Given the description of an element on the screen output the (x, y) to click on. 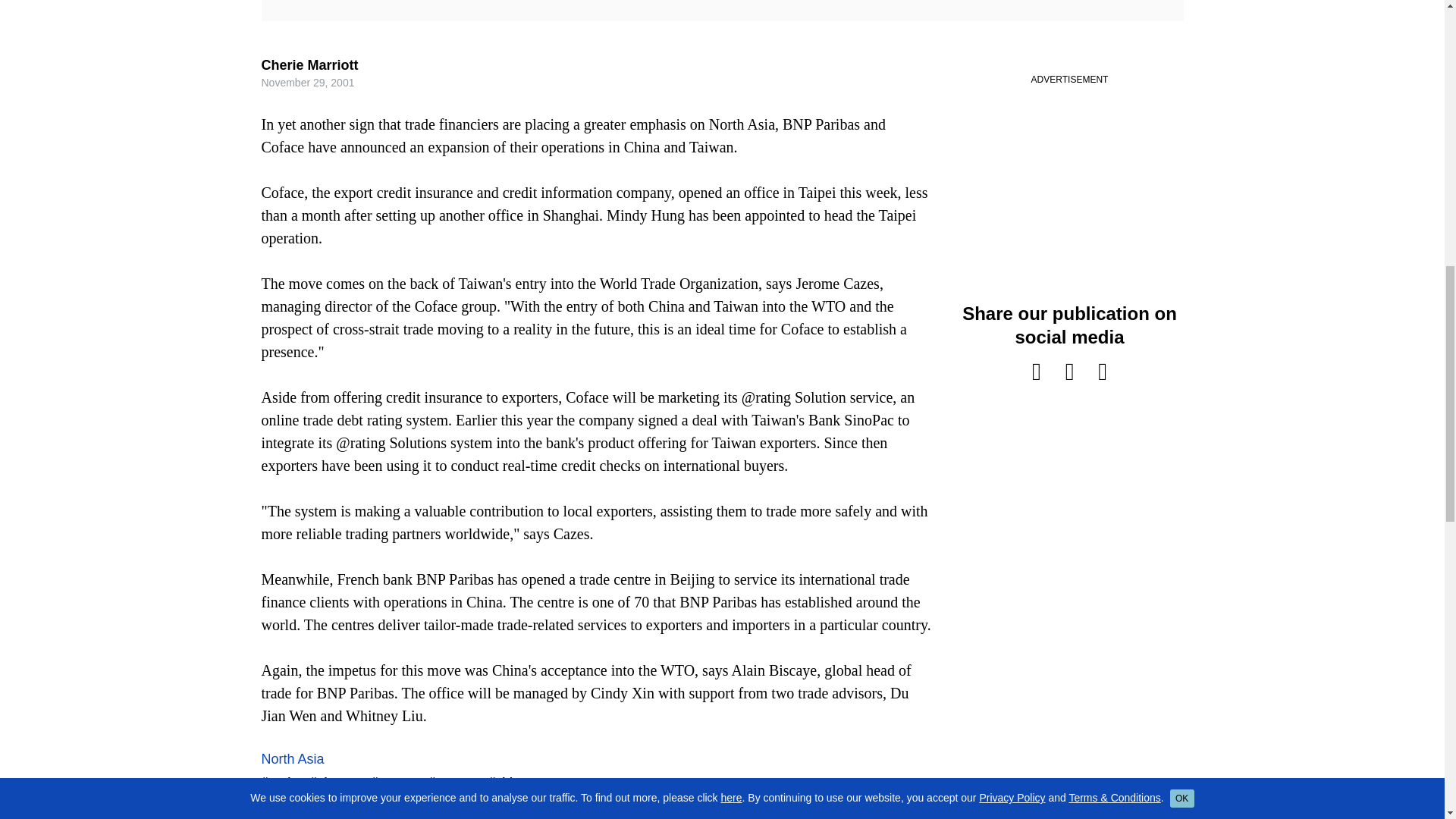
Cherie Marriott (309, 64)
3rd party ad content (1068, 805)
3rd party ad content (1068, 167)
